Given the description of an element on the screen output the (x, y) to click on. 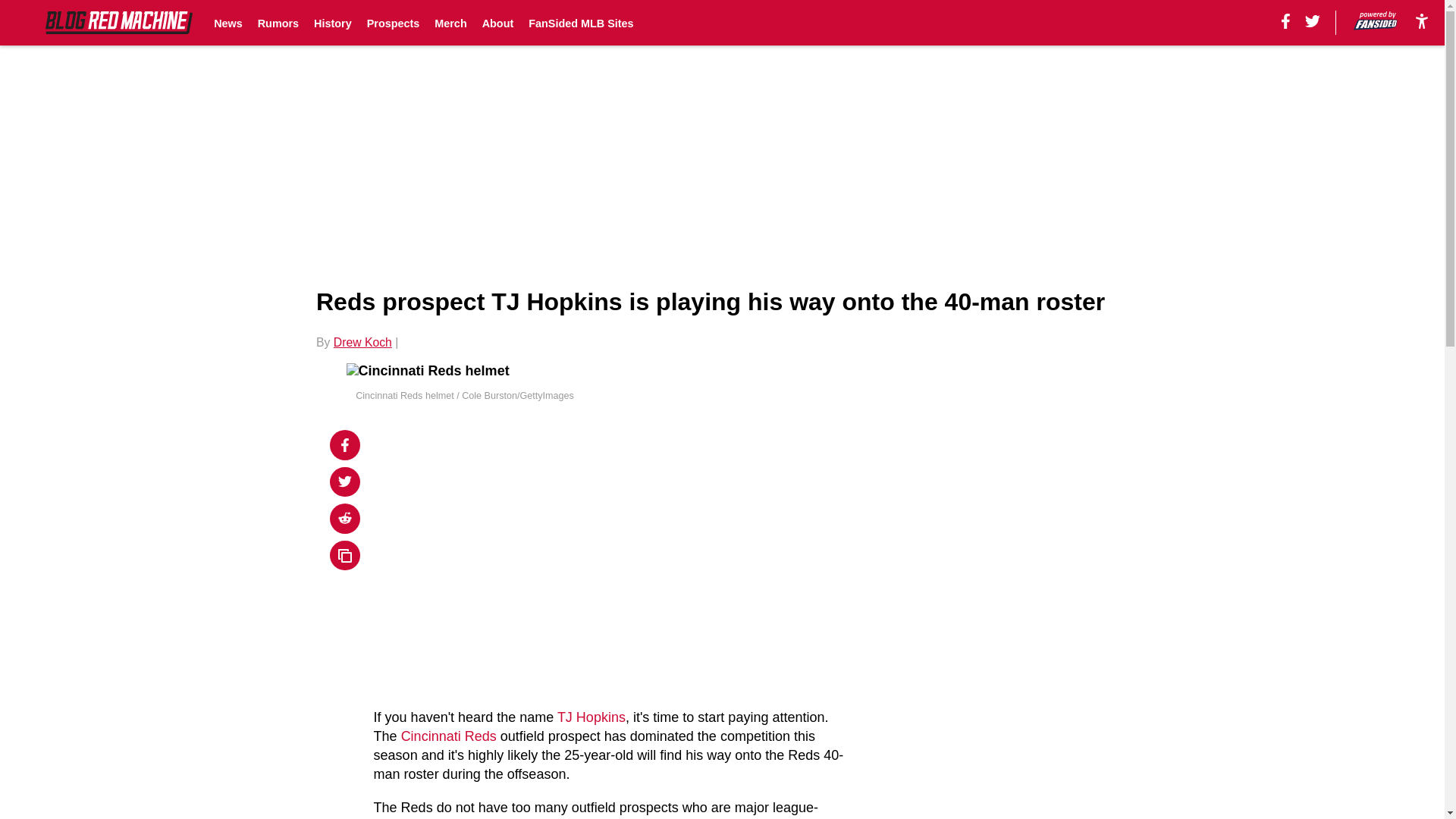
History (333, 23)
Drew Koch (362, 341)
FanSided MLB Sites (580, 23)
News (228, 23)
Merch (449, 23)
Prospects (393, 23)
Rumors (277, 23)
TJ Hopkins (591, 717)
About (497, 23)
Cincinnati Reds (448, 735)
